Given the description of an element on the screen output the (x, y) to click on. 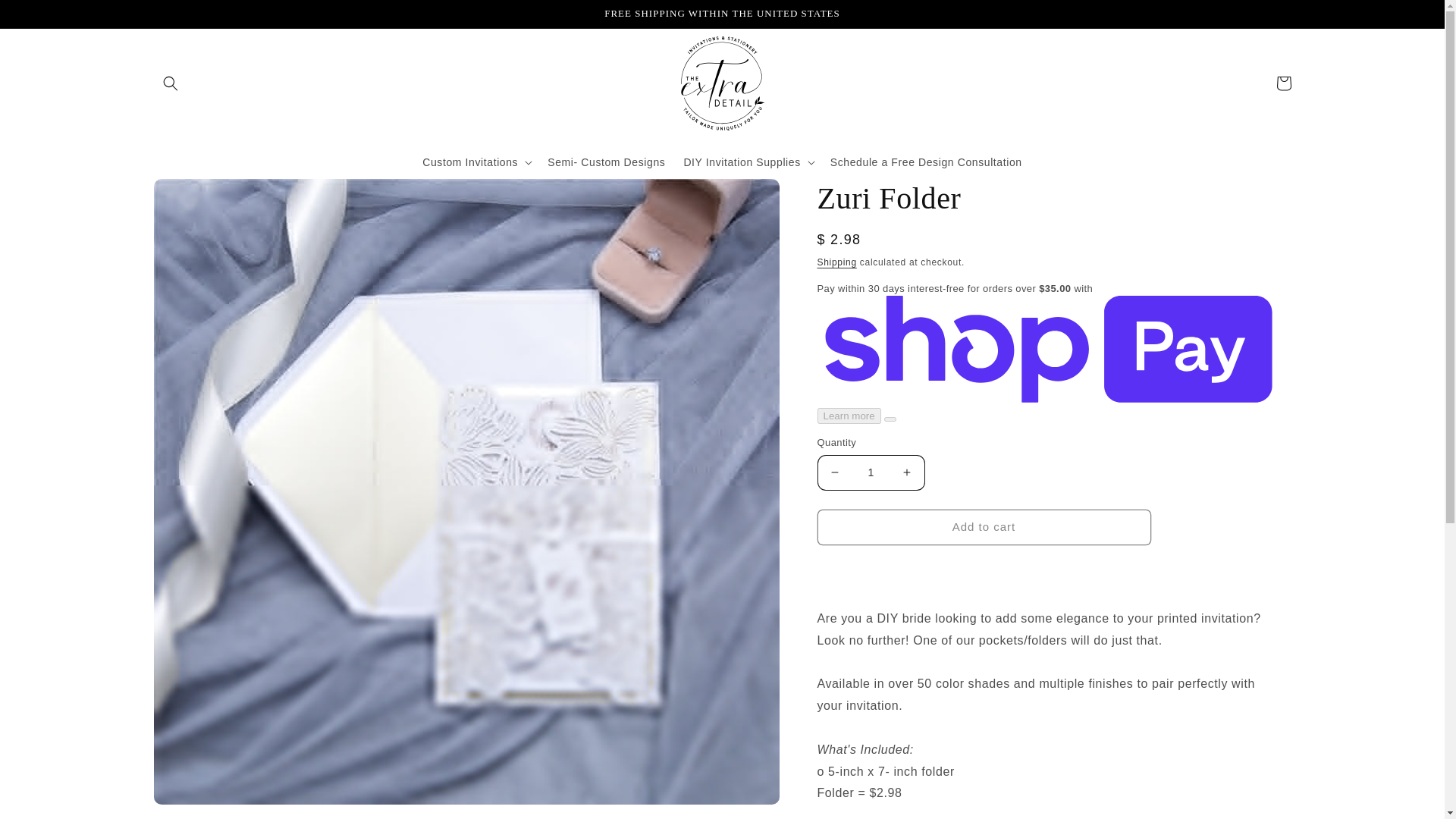
1 (870, 472)
Semi- Custom Designs (606, 162)
Schedule a Free Design Consultation (925, 162)
Skip to content (45, 17)
